Given the description of an element on the screen output the (x, y) to click on. 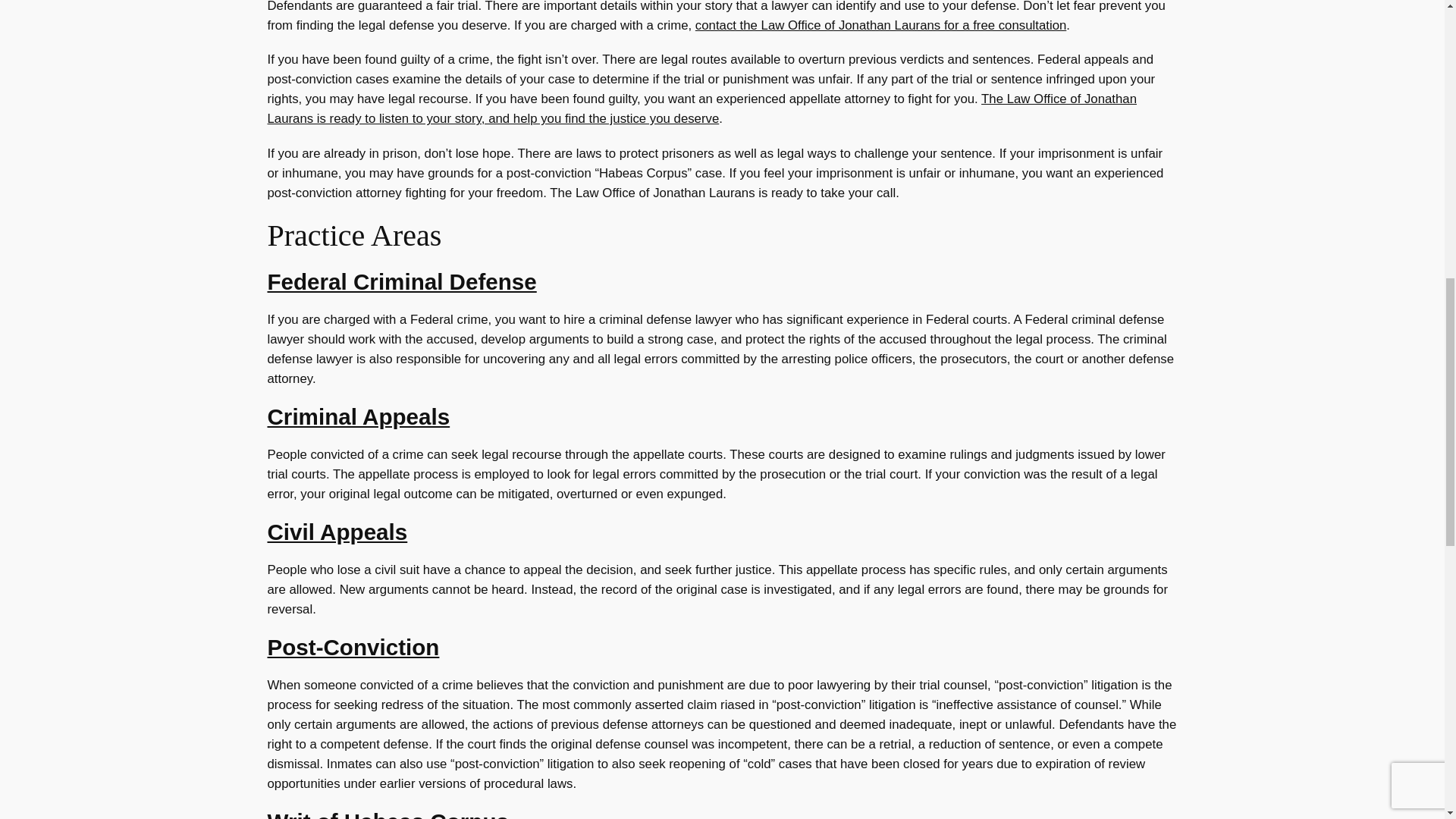
Writ of Habeas Corpus (387, 814)
Post-Conviction (352, 647)
Criminal Appeals (357, 416)
Federal Criminal Defense (400, 281)
Civil Appeals (336, 531)
